Given the description of an element on the screen output the (x, y) to click on. 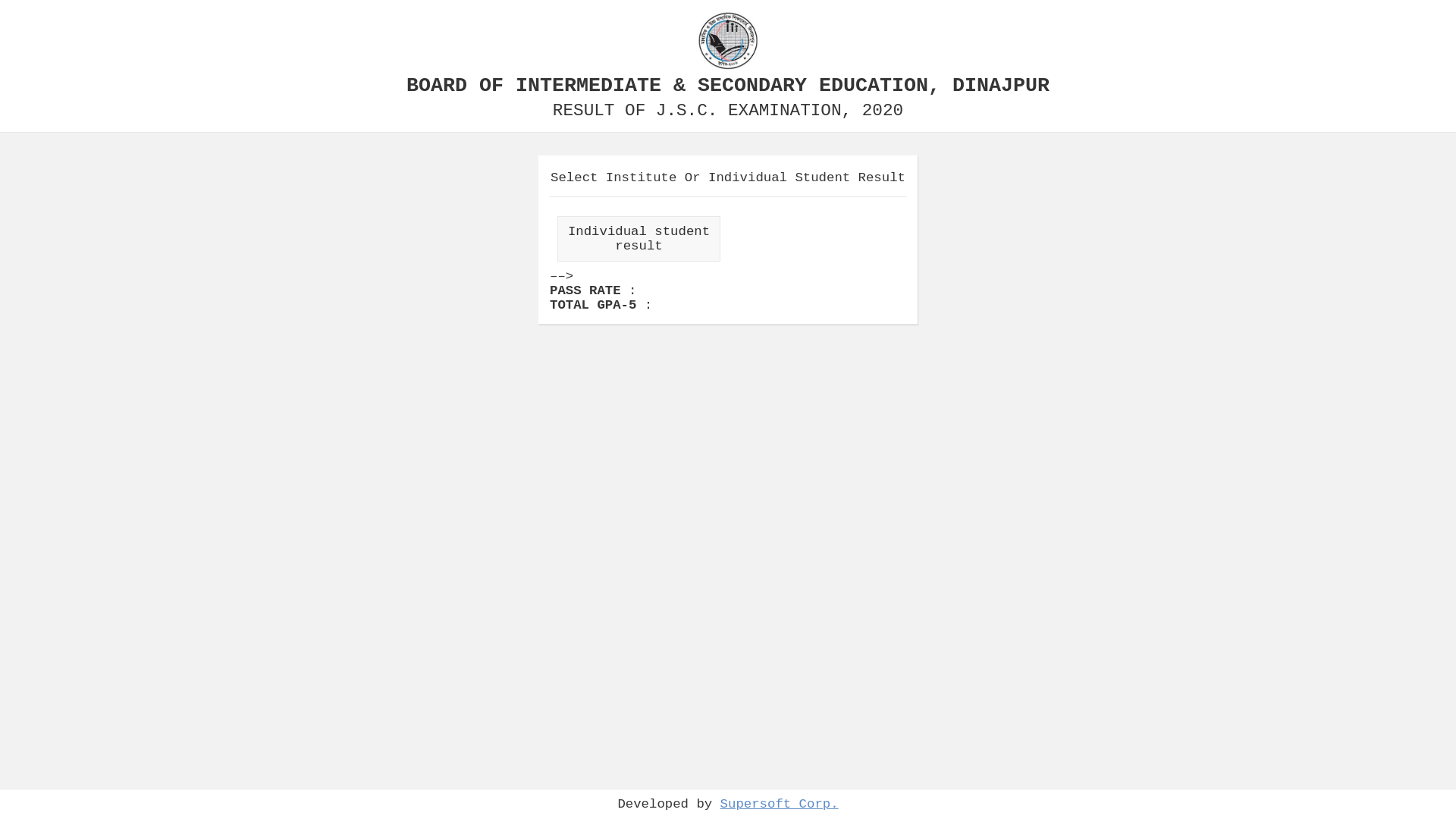
Supersoft Corp. Element type: text (779, 804)
Individual student result Element type: text (638, 238)
